Given the description of an element on the screen output the (x, y) to click on. 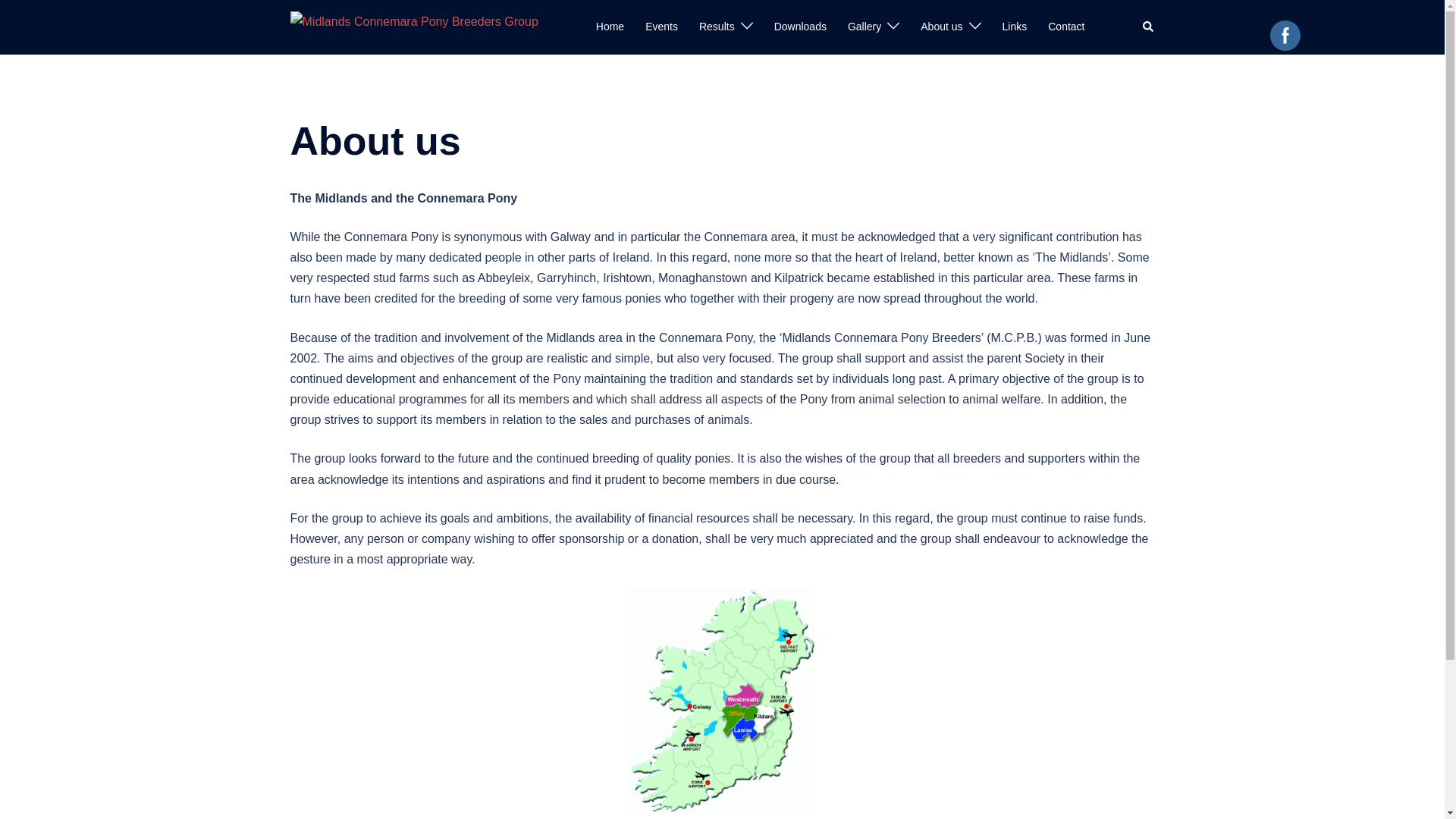
Gallery (863, 27)
Downloads (800, 27)
Links (1015, 27)
Home (609, 27)
Results (716, 27)
Midlands Connemara Pony Breeders Group (413, 25)
About us (941, 27)
Contact (1066, 27)
Search (1147, 27)
Facebook (1285, 35)
Events (661, 27)
